Given the description of an element on the screen output the (x, y) to click on. 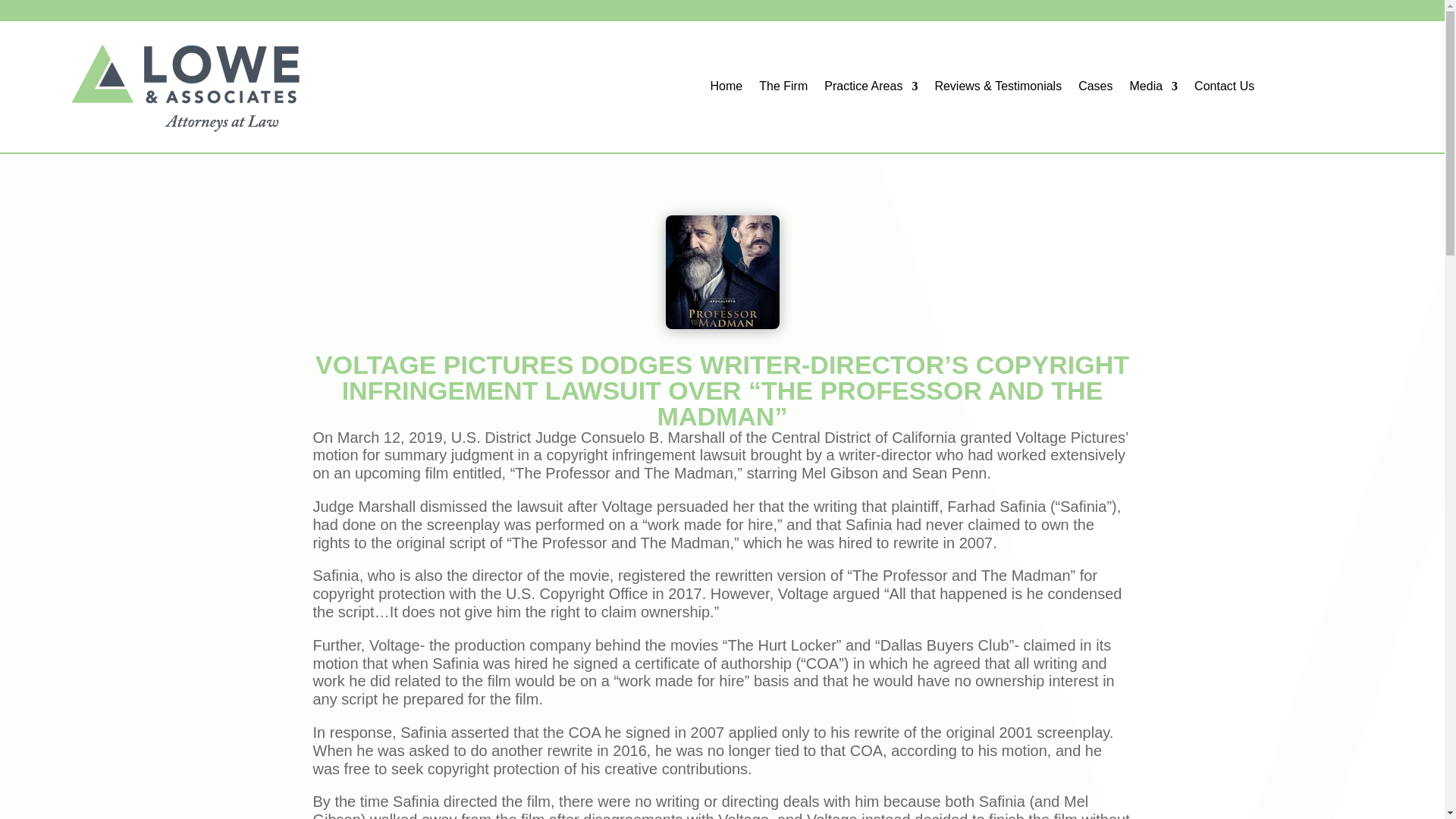
Practice Areas (870, 89)
The Firm (783, 89)
Cases (1095, 89)
TherofessorandTheMadman (721, 272)
Contact Us (1223, 89)
Media (1153, 89)
Home (726, 89)
